Given the description of an element on the screen output the (x, y) to click on. 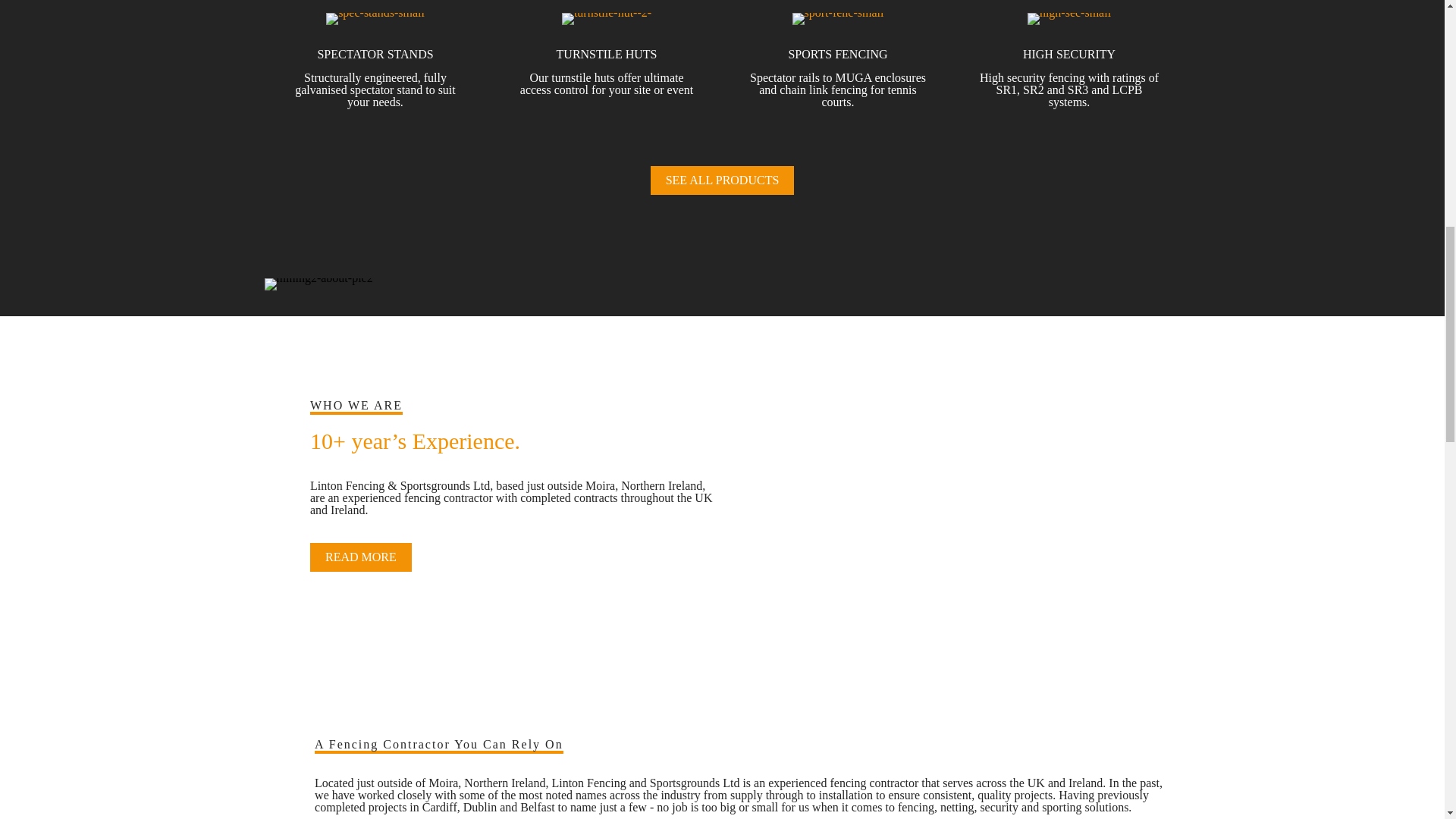
mining2-about-pic2 (318, 284)
high-sec-small (1068, 19)
SEE ALL PRODUCTS (722, 180)
spec-stands-small (375, 19)
sport-fenc-small (837, 19)
turnstile-hut--2- (606, 19)
READ MORE (361, 556)
